Given the description of an element on the screen output the (x, y) to click on. 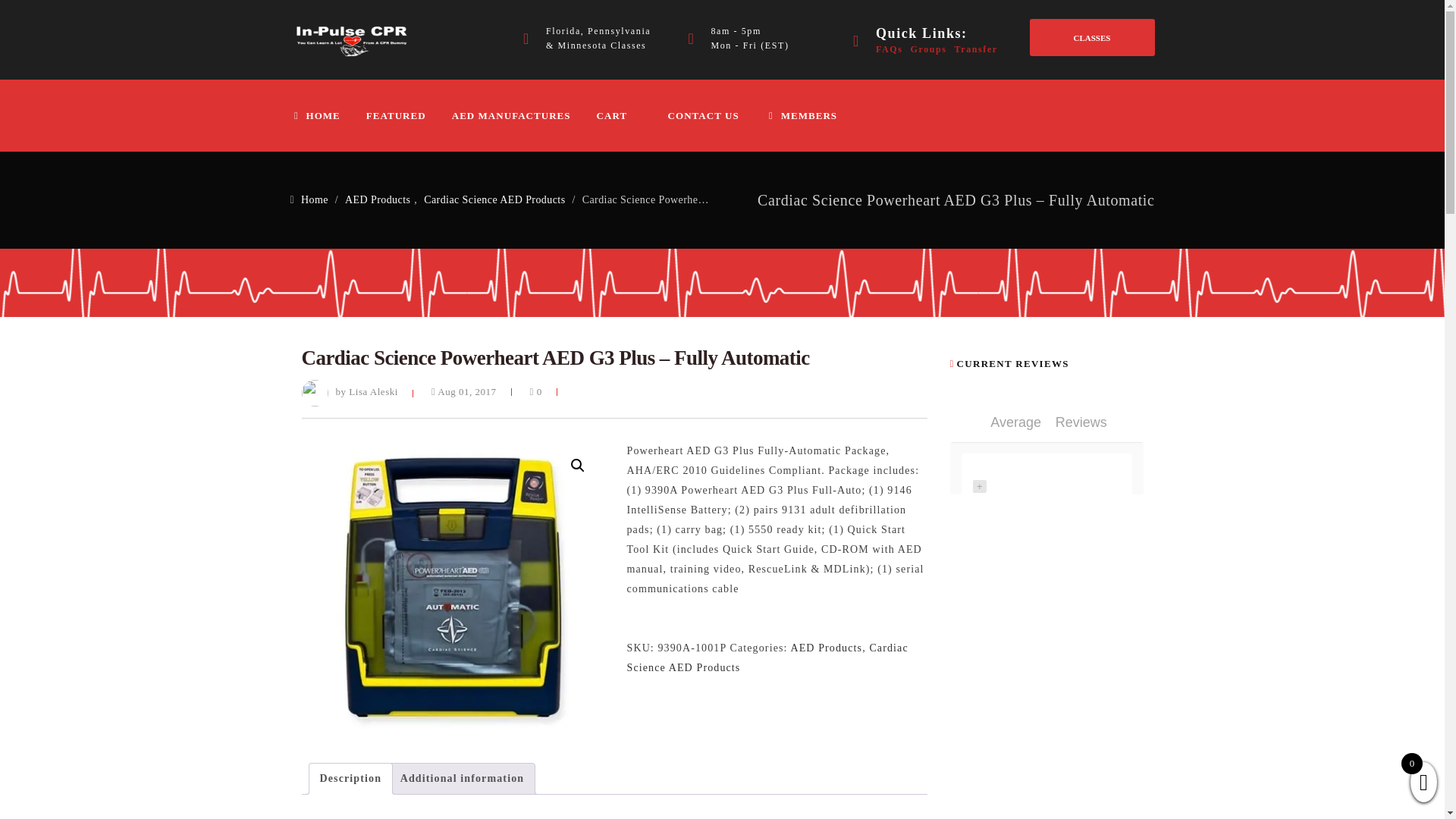
AED MANUFACTURES (522, 115)
PayPal Message 1 (776, 624)
Reviews Widget (1045, 456)
0 (535, 391)
Your State's Class Schedule (1091, 37)
Cardiac Science AED Products (766, 657)
Groups (928, 49)
AED Products (825, 647)
CART (630, 115)
Home (314, 199)
FEATURED (407, 115)
Cardiac Science AED Products (494, 199)
CONTACT US (714, 115)
9390A-1001P-2T (451, 591)
Additional information (462, 778)
